Given the description of an element on the screen output the (x, y) to click on. 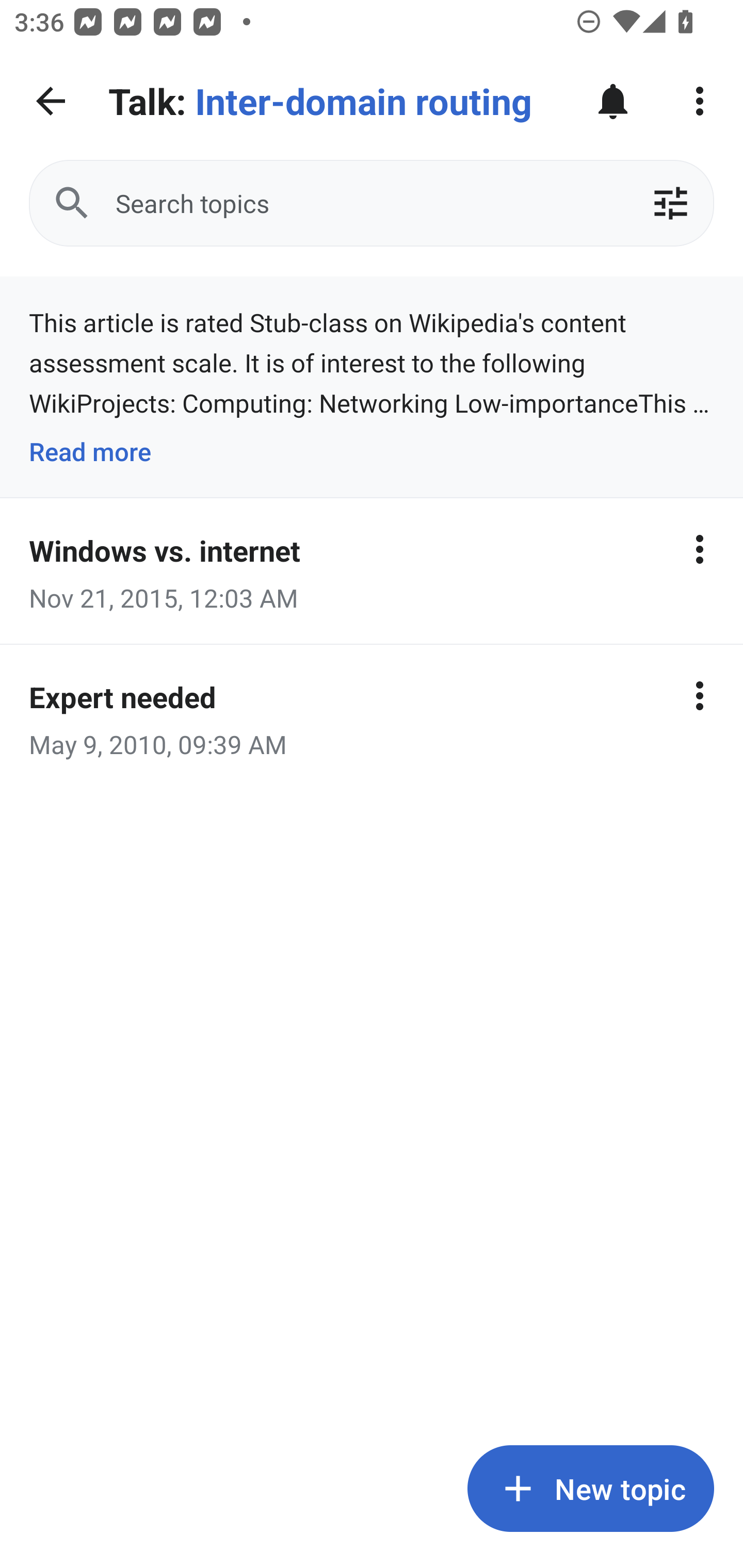
Navigate up (50, 101)
Notifications (612, 101)
More (699, 101)
Search topics Search topics Sort by (371, 202)
Sort by (670, 202)
More options (699, 327)
More options (699, 549)
Expert needed May 9, 2010, 09:39 AM More options (371, 717)
More options (699, 695)
New topic (590, 1488)
